Given the description of an element on the screen output the (x, y) to click on. 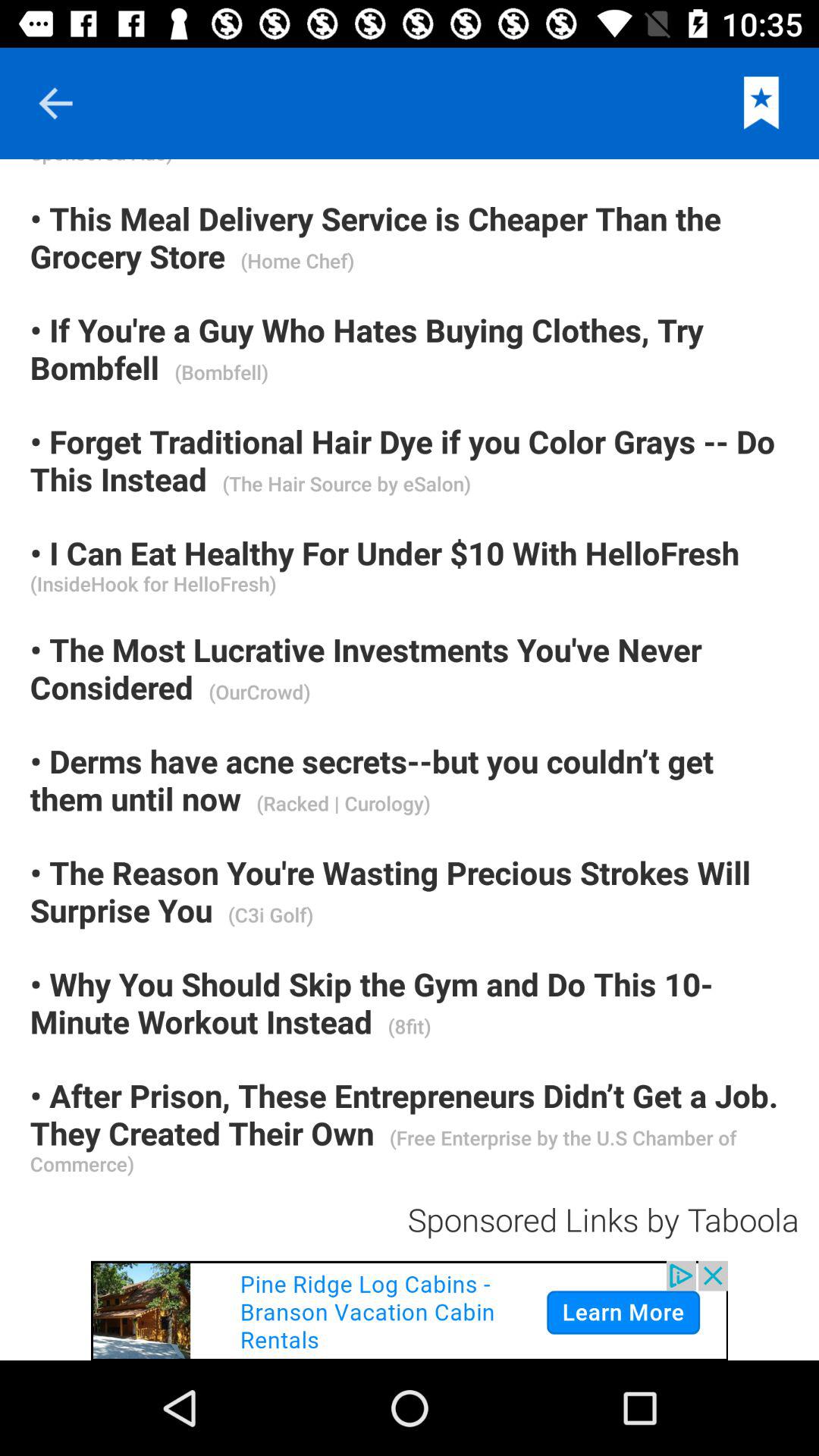
go to open (409, 1310)
